Given the description of an element on the screen output the (x, y) to click on. 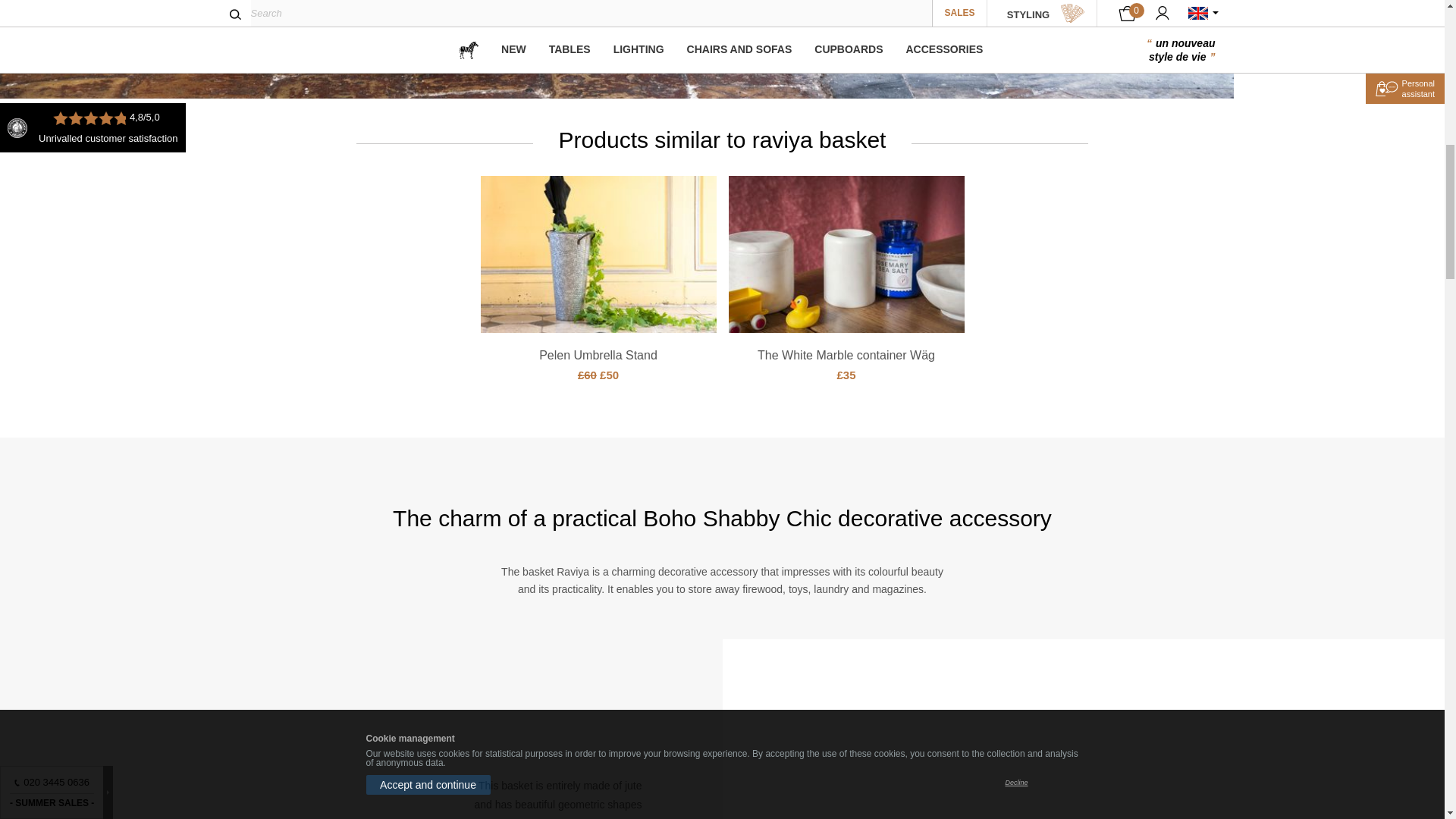
Pelen Umbrella Stand (598, 354)
